Given the description of an element on the screen output the (x, y) to click on. 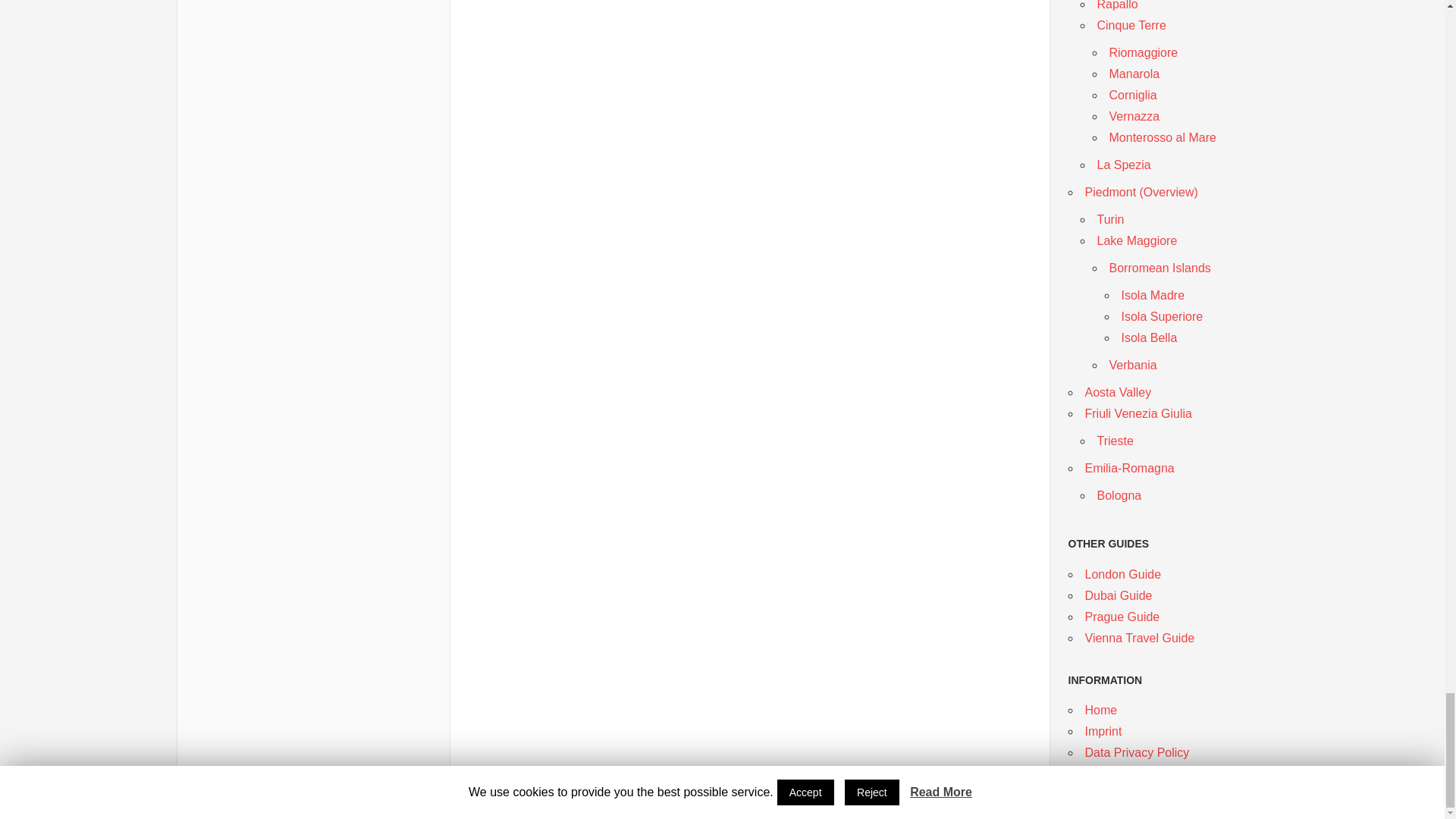
WordPress (278, 796)
Admiral WordPress Theme (350, 796)
